Given the description of an element on the screen output the (x, y) to click on. 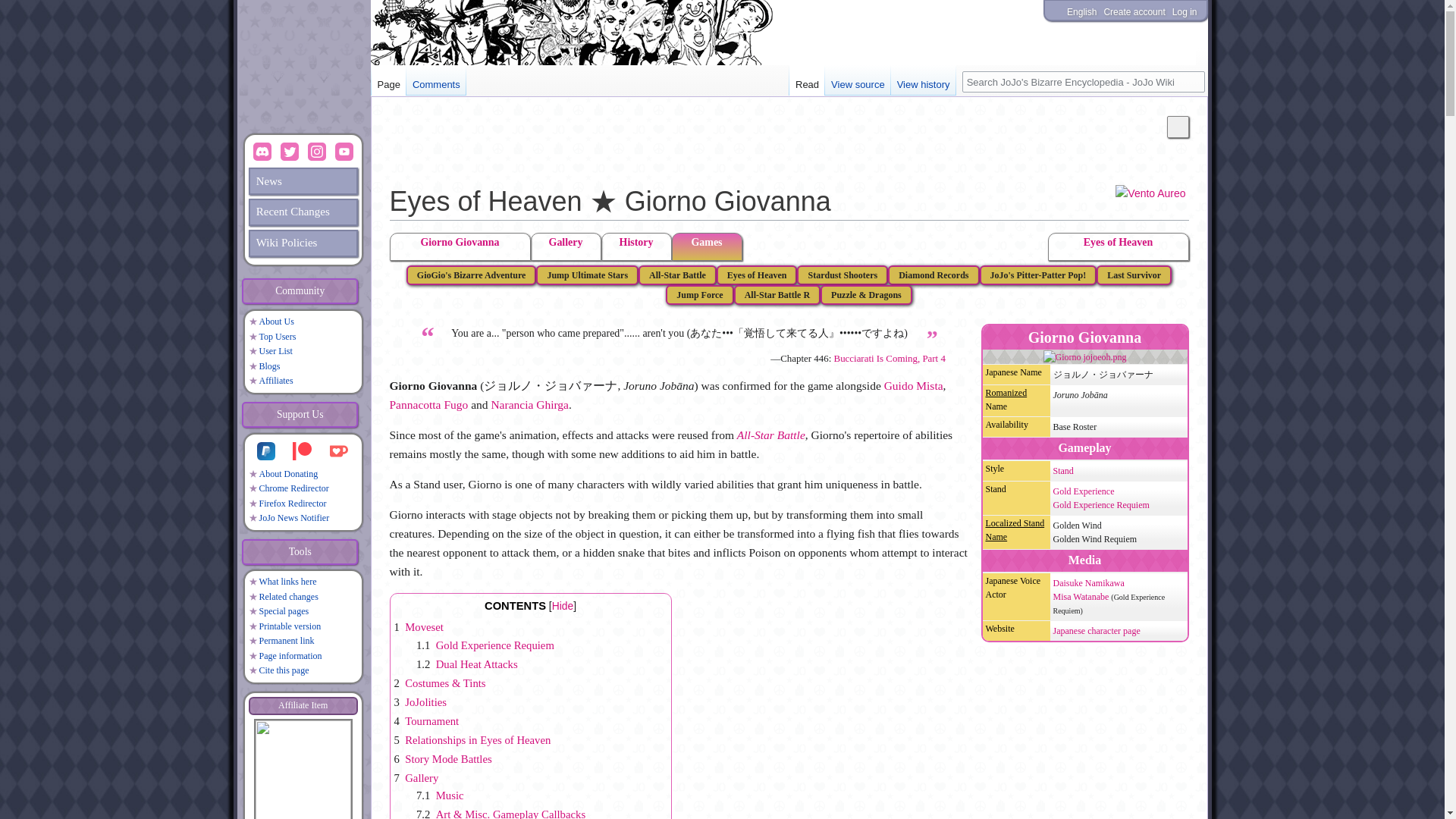
Jump Ultimate Stars (587, 273)
1.1 Gold Experience Requiem (485, 645)
Jump Force (699, 293)
Localized Stand Name (1015, 529)
Go (1193, 81)
Pannacotta Fugo (429, 404)
wikipedia:Hepburn romanization (1006, 392)
1 Moveset (419, 626)
Go (1193, 81)
Gold Experience Requiem (1100, 504)
Gallery (565, 249)
Last Survivor (1134, 273)
Search (1193, 81)
Misa Watanabe (1080, 596)
Giorno Giovanna (459, 249)
